Given the description of an element on the screen output the (x, y) to click on. 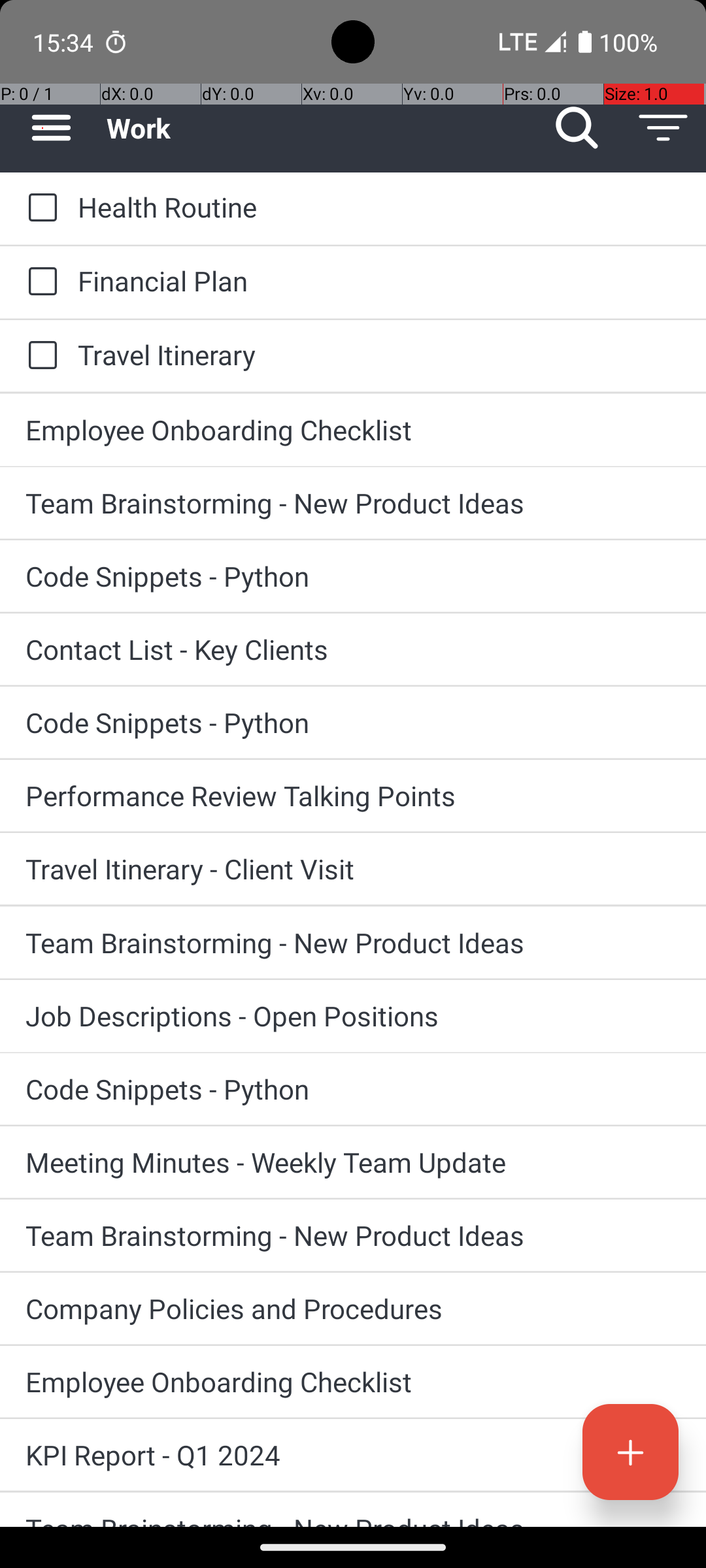
to-do: Health Routine Element type: android.widget.CheckBox (38, 208)
Health Routine Element type: android.widget.TextView (378, 206)
to-do: Financial Plan Element type: android.widget.CheckBox (38, 282)
Financial Plan Element type: android.widget.TextView (378, 280)
to-do: Travel Itinerary Element type: android.widget.CheckBox (38, 356)
Travel Itinerary Element type: android.widget.TextView (378, 354)
Employee Onboarding Checklist Element type: android.widget.TextView (352, 429)
Team Brainstorming - New Product Ideas Element type: android.widget.TextView (352, 502)
Contact List - Key Clients Element type: android.widget.TextView (352, 648)
Performance Review Talking Points Element type: android.widget.TextView (352, 795)
Travel Itinerary - Client Visit Element type: android.widget.TextView (352, 868)
Job Descriptions - Open Positions Element type: android.widget.TextView (352, 1015)
Meeting Minutes - Weekly Team Update Element type: android.widget.TextView (352, 1161)
Company Policies and Procedures Element type: android.widget.TextView (352, 1307)
KPI Report - Q1 2024 Element type: android.widget.TextView (352, 1454)
